Given the description of an element on the screen output the (x, y) to click on. 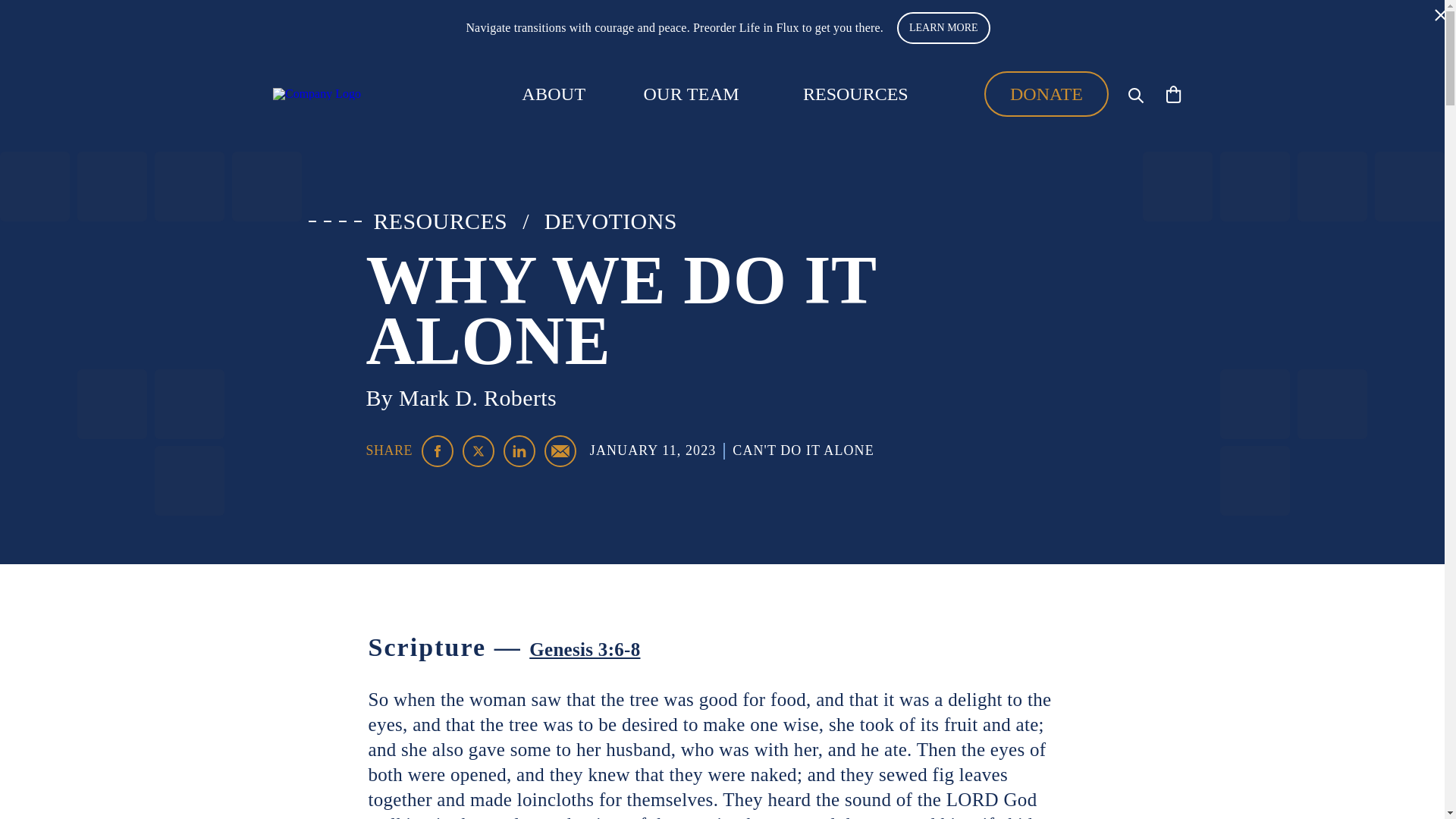
Return to Homepage (356, 93)
Mark D. Roberts (477, 397)
Genesis 3:6-8 (584, 649)
RESOURCES (439, 221)
De Pree Center (356, 93)
CAN'T DO IT ALONE (802, 451)
DONATE (1046, 94)
RESOURCES (855, 93)
LEARN MORE (943, 28)
OUR TEAM (691, 94)
ABOUT (552, 94)
DEVOTIONS (610, 221)
